Given the description of an element on the screen output the (x, y) to click on. 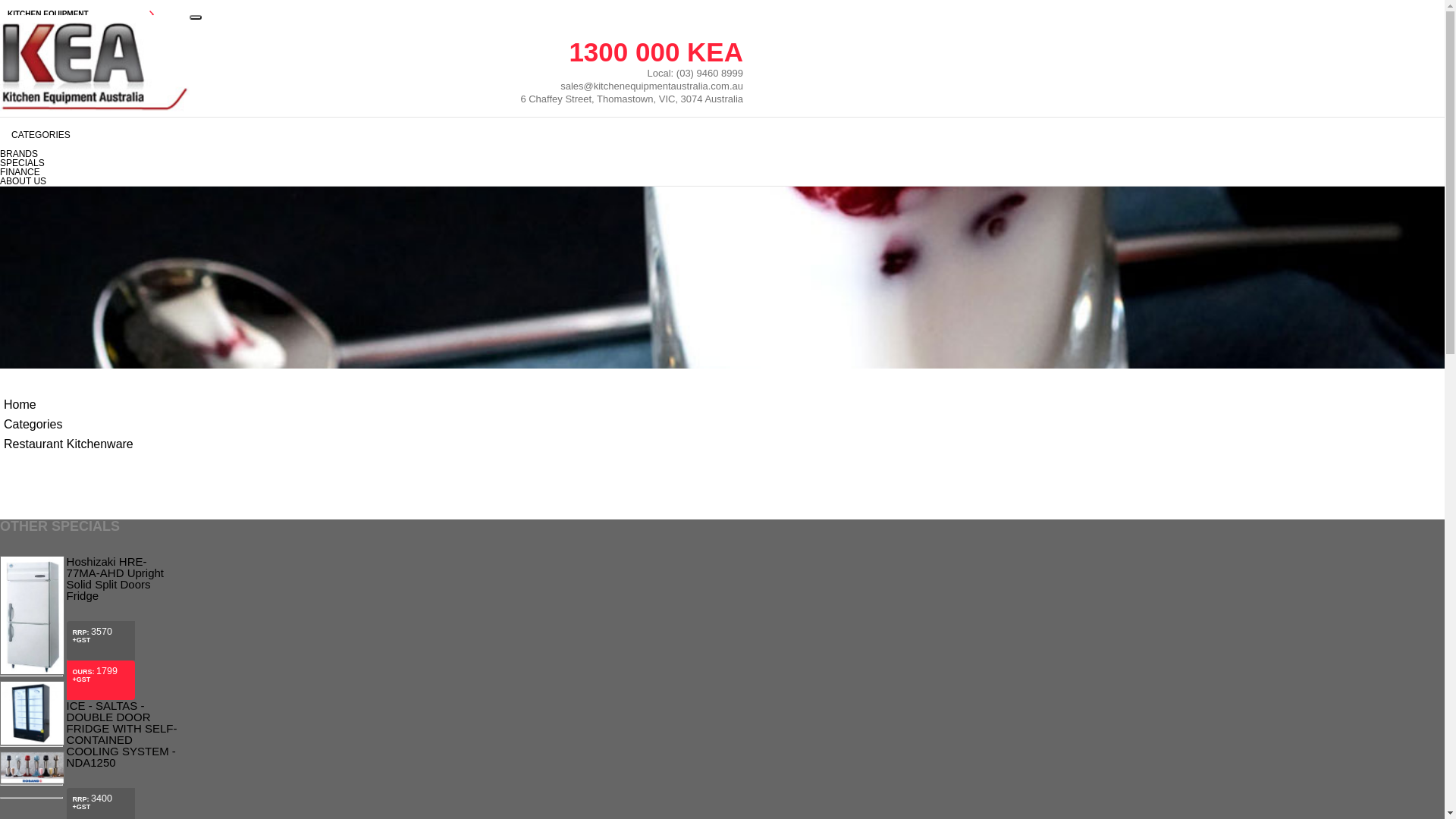
Hoshizaki HRE-77MA-AHD Upright Solid Spl Element type: hover (32, 671)
COMMERCIAL REFRIGERATION Element type: text (83, 71)
COMMERCIAL FOOD PROCESSORS Element type: text (83, 215)
KITCHEN EQUIPMENT Element type: text (83, 14)
SILVERCHEF RENTAL FINANCE Element type: text (83, 519)
ABOUT US Element type: text (83, 663)
CATEGORIES Element type: text (371, 135)
FOOD SERVICE AND UTILITY TROLLEYS Element type: text (83, 453)
ICE - SALTAS - DOUBLE DOOR FRIDGE WITH S Element type: hover (32, 742)
Hoshizaki HRE-77MA-AHD Upright Solid Split Doors Fridge Element type: text (120, 578)
CASH REGISTERS AND SCALES AND BUG ZAPPERS Element type: text (83, 486)
COMMERCIAL DEEP FRYERS Element type: text (83, 129)
SPECIALS Element type: text (83, 605)
STAINLESS STEEL Element type: text (83, 367)
Restaurant Kitchenware Element type: text (68, 443)
DISH WASHERS AND PRE RINSE TAPS Element type: text (83, 158)
FINANCE Element type: text (20, 171)
HEATED FOOD DISPLAY CABINETS Element type: text (83, 280)
PIZZA AND BAKERY EQUIPMENT Element type: text (83, 186)
BUTCHERS AND DELI EQUIPMENT Element type: text (83, 42)
COMMERCIAL COFFEE EQUIPMENT Element type: text (83, 309)
RESTAURANT AND CAFE FURNITURE Element type: text (83, 338)
ABOUT US Element type: text (23, 180)
Home Element type: text (19, 404)
SPECIALS Element type: text (22, 162)
COMMERCIAL COOKING EQUIPMENT Element type: text (83, 100)
FOOD VANS TRAILERS AND COFFEE VANS Element type: text (83, 248)
Categories Element type: text (32, 423)
RESTAURANT KITCHENWARE Element type: text (83, 396)
BRANDS Element type: text (83, 576)
PROMOTIONS Element type: text (83, 547)
BRANDS Element type: text (18, 153)
GREASE TRAPS Element type: text (83, 425)
FINANCE Element type: text (83, 634)
